Given the description of an element on the screen output the (x, y) to click on. 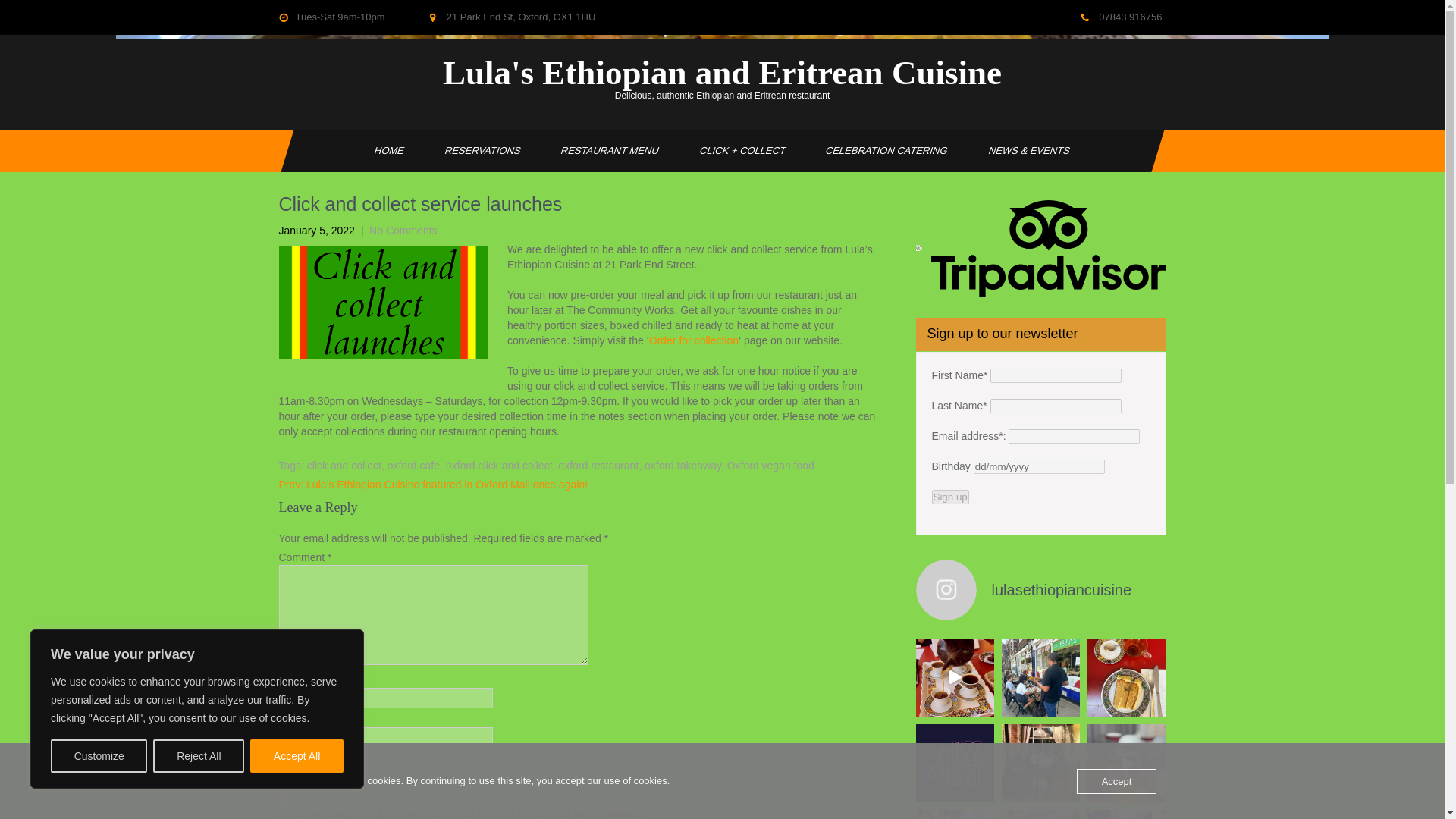
Oxford vegan food (769, 465)
Sign up (949, 496)
Order for collection (693, 339)
HOME (382, 150)
yes (283, 796)
RESTAURANT MENU (603, 150)
Customize (98, 756)
No Comments (402, 230)
oxford click and collect (499, 465)
Reject All (198, 756)
